Given the description of an element on the screen output the (x, y) to click on. 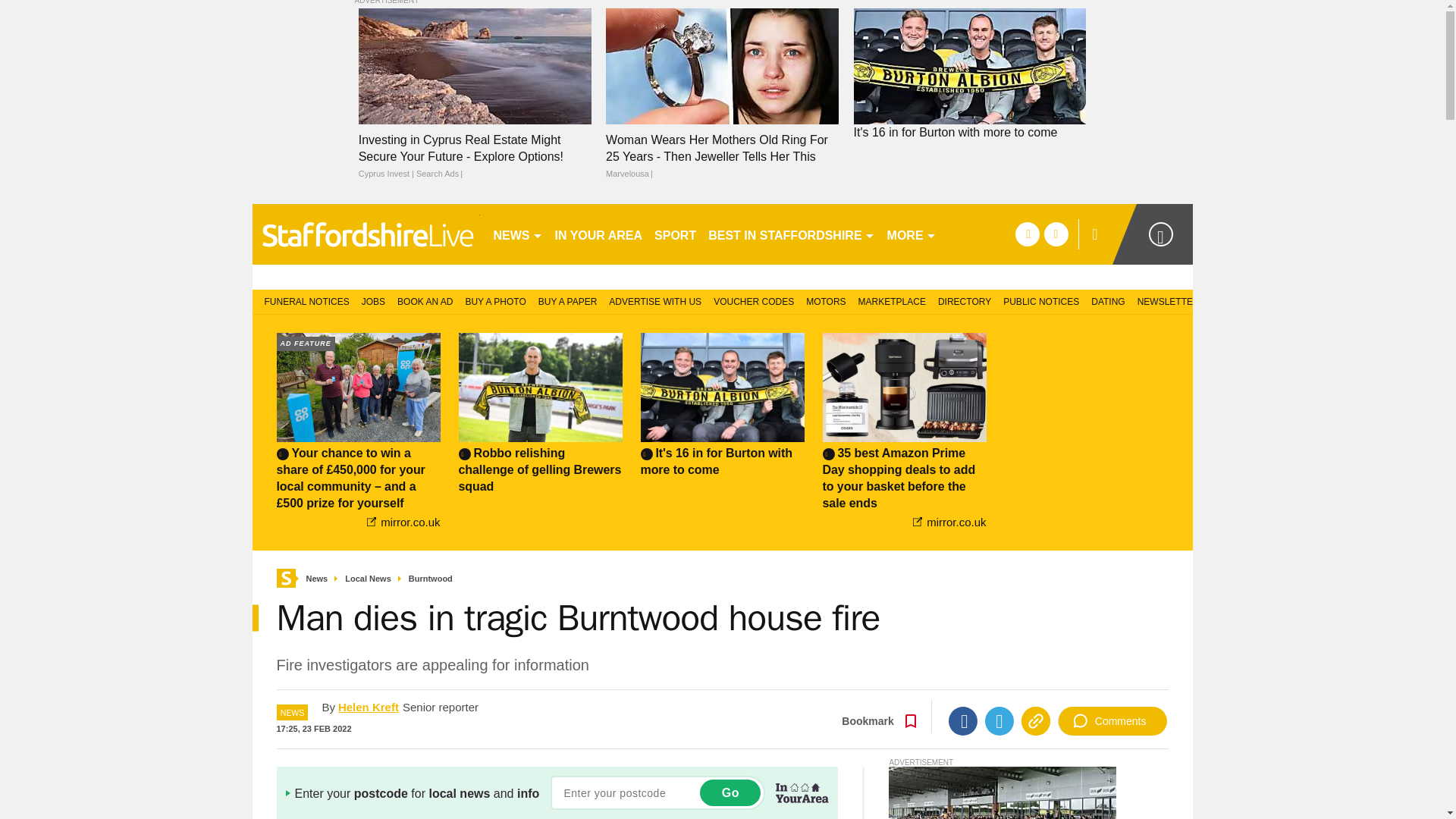
IN YOUR AREA (598, 233)
It's 16 in for Burton with more to come (969, 132)
burtonmail (365, 233)
Comments (1112, 720)
BEST IN STAFFORDSHIRE (790, 233)
twitter (1055, 233)
It's 16 in for Burton with more to come (969, 132)
MORE (911, 233)
NEWS (517, 233)
Facebook (962, 720)
It's 16 in for Burton with more to come (969, 66)
